Given the description of an element on the screen output the (x, y) to click on. 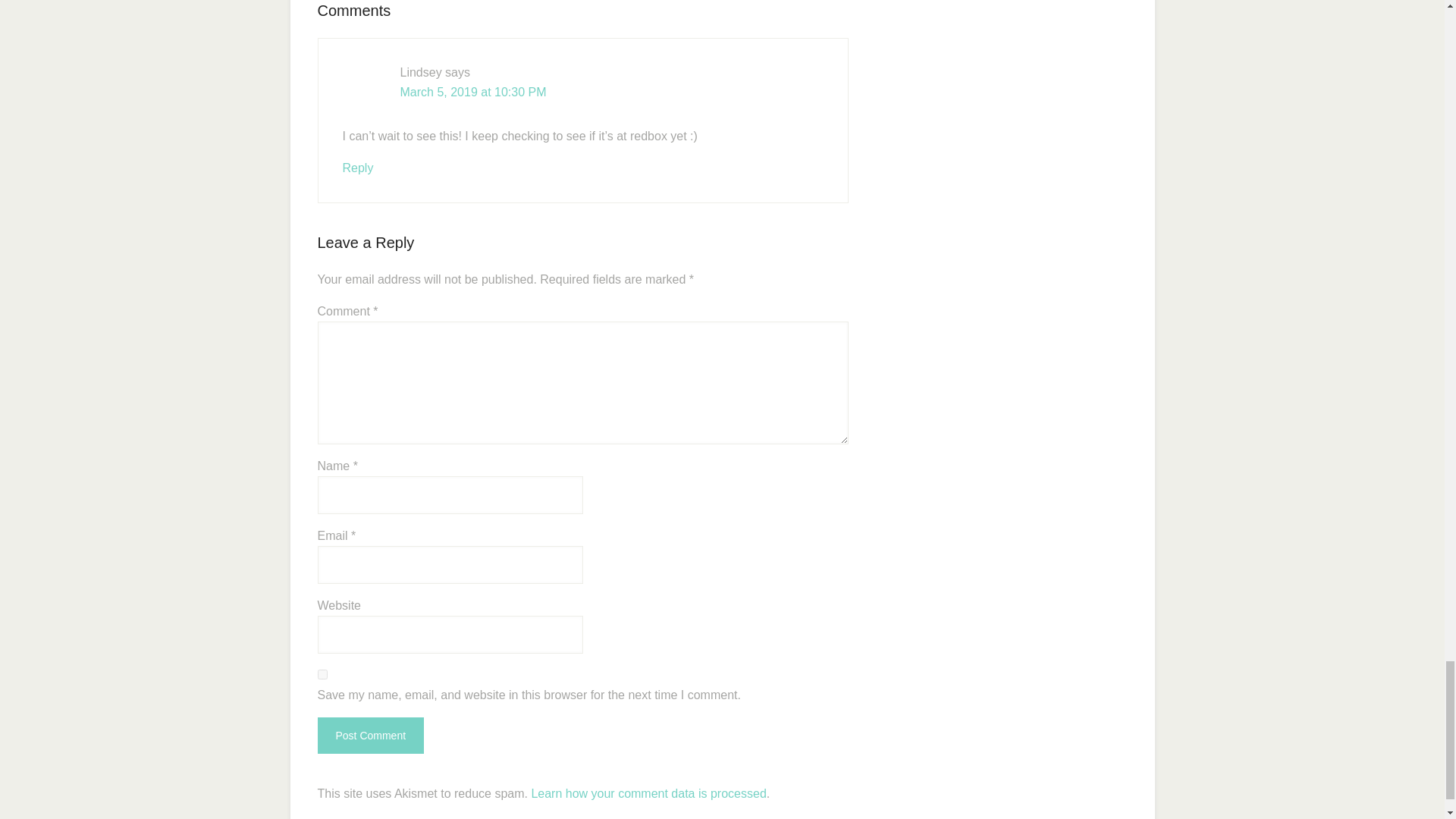
Post Comment (370, 735)
Learn how your comment data is processed (648, 793)
Post Comment (370, 735)
yes (321, 674)
Reply (358, 167)
March 5, 2019 at 10:30 PM (473, 91)
